Given the description of an element on the screen output the (x, y) to click on. 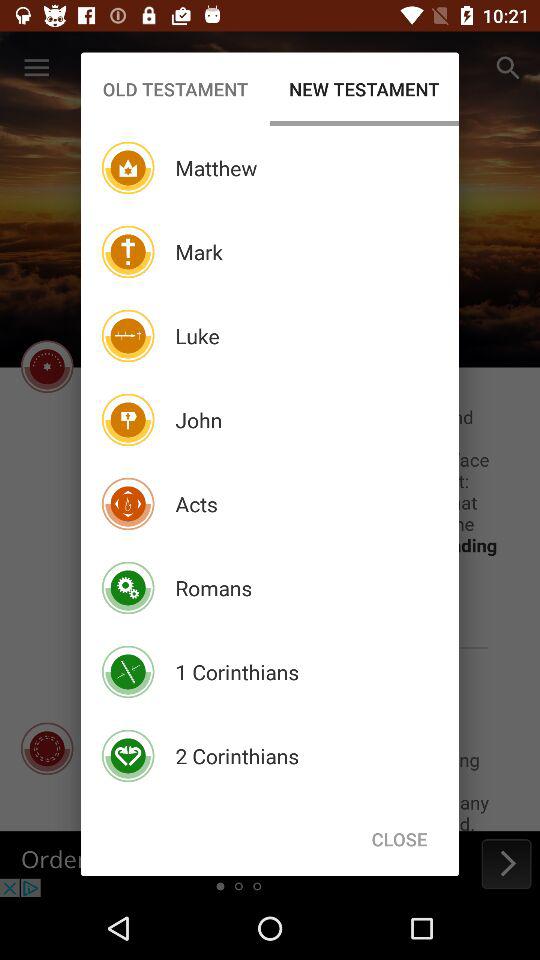
launch the icon below the john (196, 503)
